Given the description of an element on the screen output the (x, y) to click on. 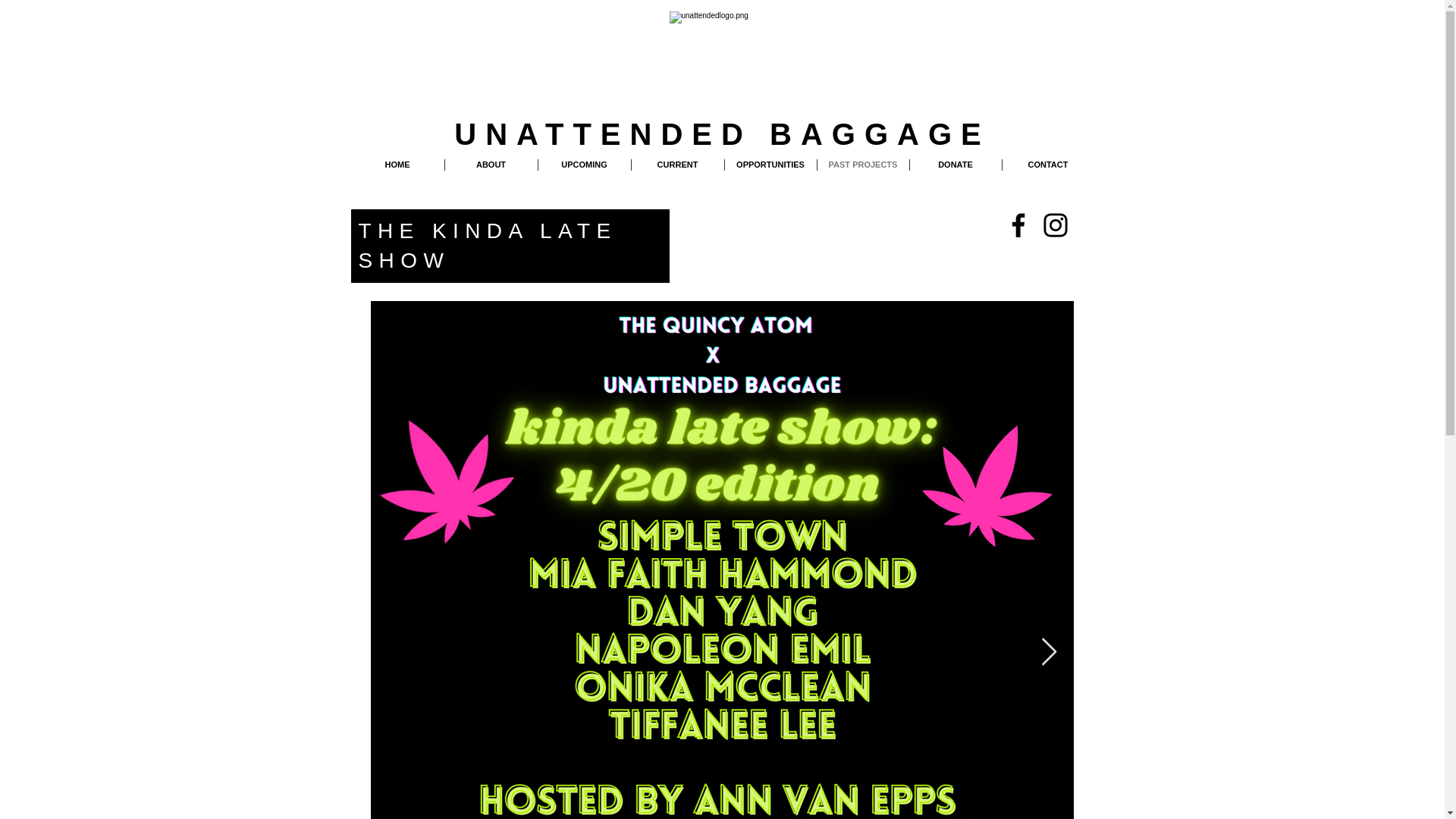
OPPORTUNITIES (770, 164)
CONTACT (1048, 164)
HOME (397, 164)
PAST PROJECTS (862, 164)
CURRENT (676, 164)
ABOUT (490, 164)
UNATTENDED BAGGAGE (722, 133)
UPCOMING (584, 164)
DONATE (955, 164)
